Given the description of an element on the screen output the (x, y) to click on. 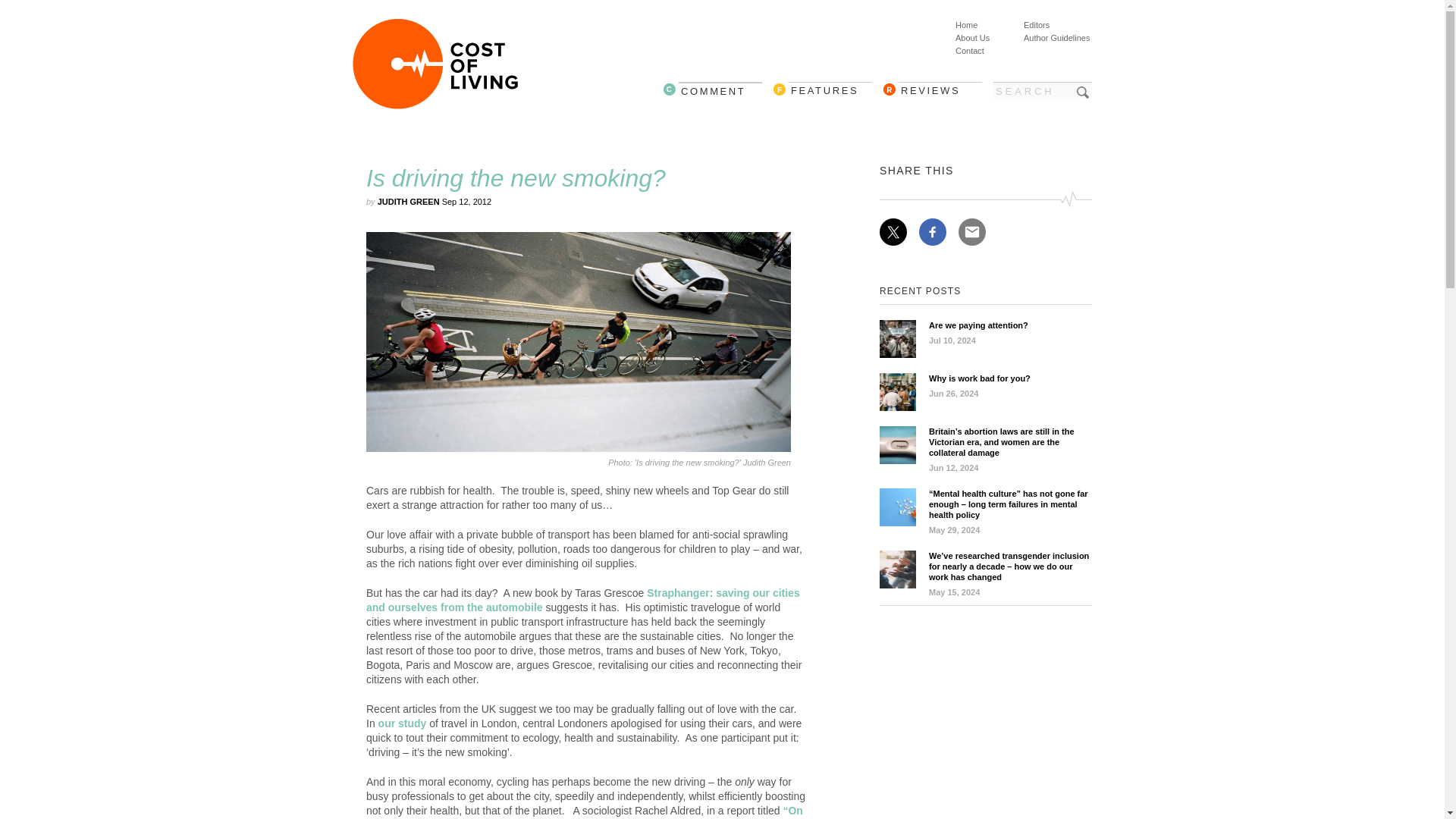
our study (402, 723)
FEATURES (985, 342)
Contact (830, 88)
link to project reports (969, 50)
Search (584, 811)
link to article (1044, 90)
Editors (402, 723)
Author Guidelines (1036, 24)
